Given the description of an element on the screen output the (x, y) to click on. 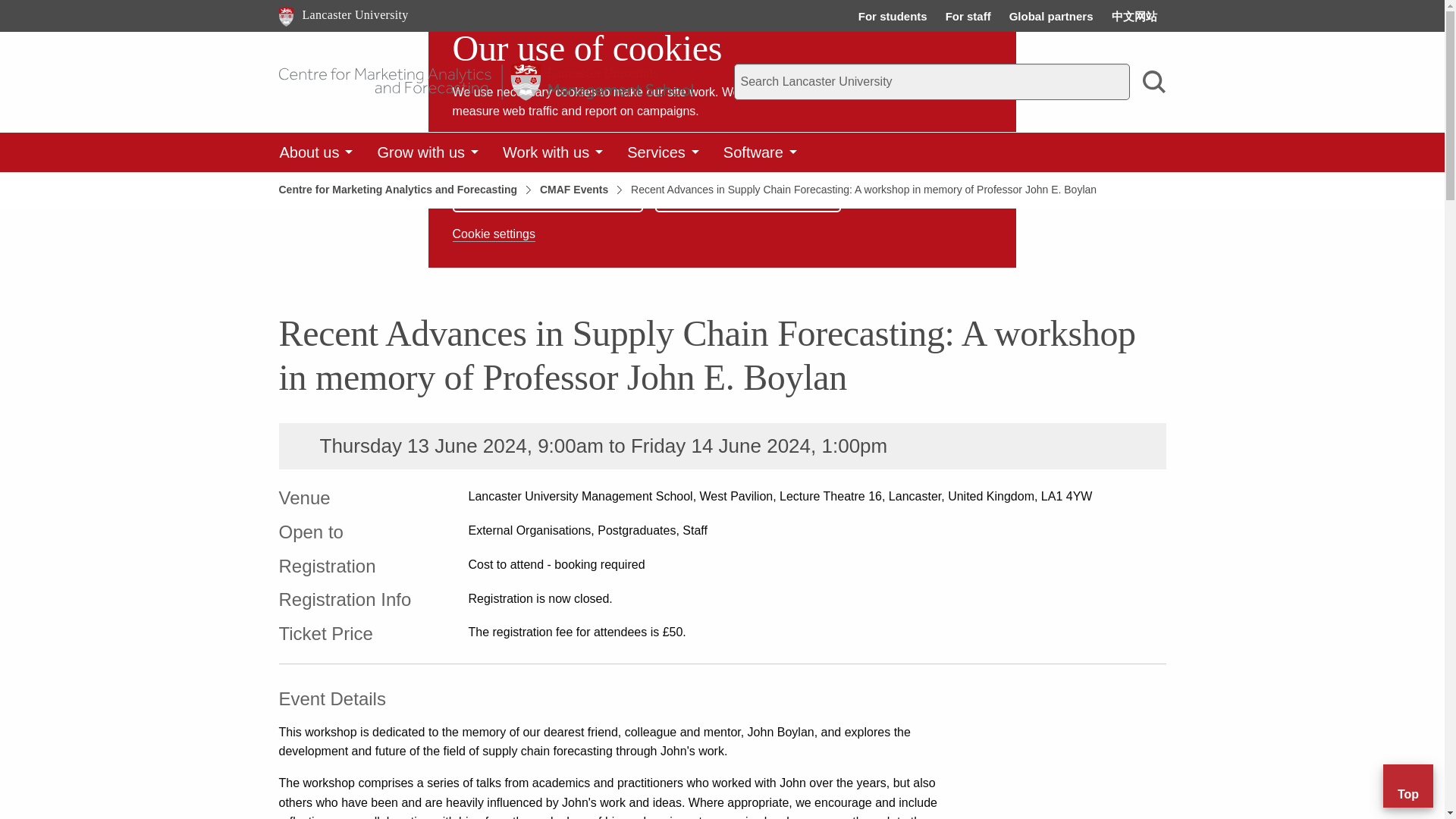
For staff (967, 15)
Accept optional cookies (547, 187)
Global partners (1051, 15)
About us (315, 151)
Cookie settings (493, 234)
For students (893, 15)
Work with us (552, 151)
Grow with us (427, 151)
Reject optional cookies (344, 15)
